Given the description of an element on the screen output the (x, y) to click on. 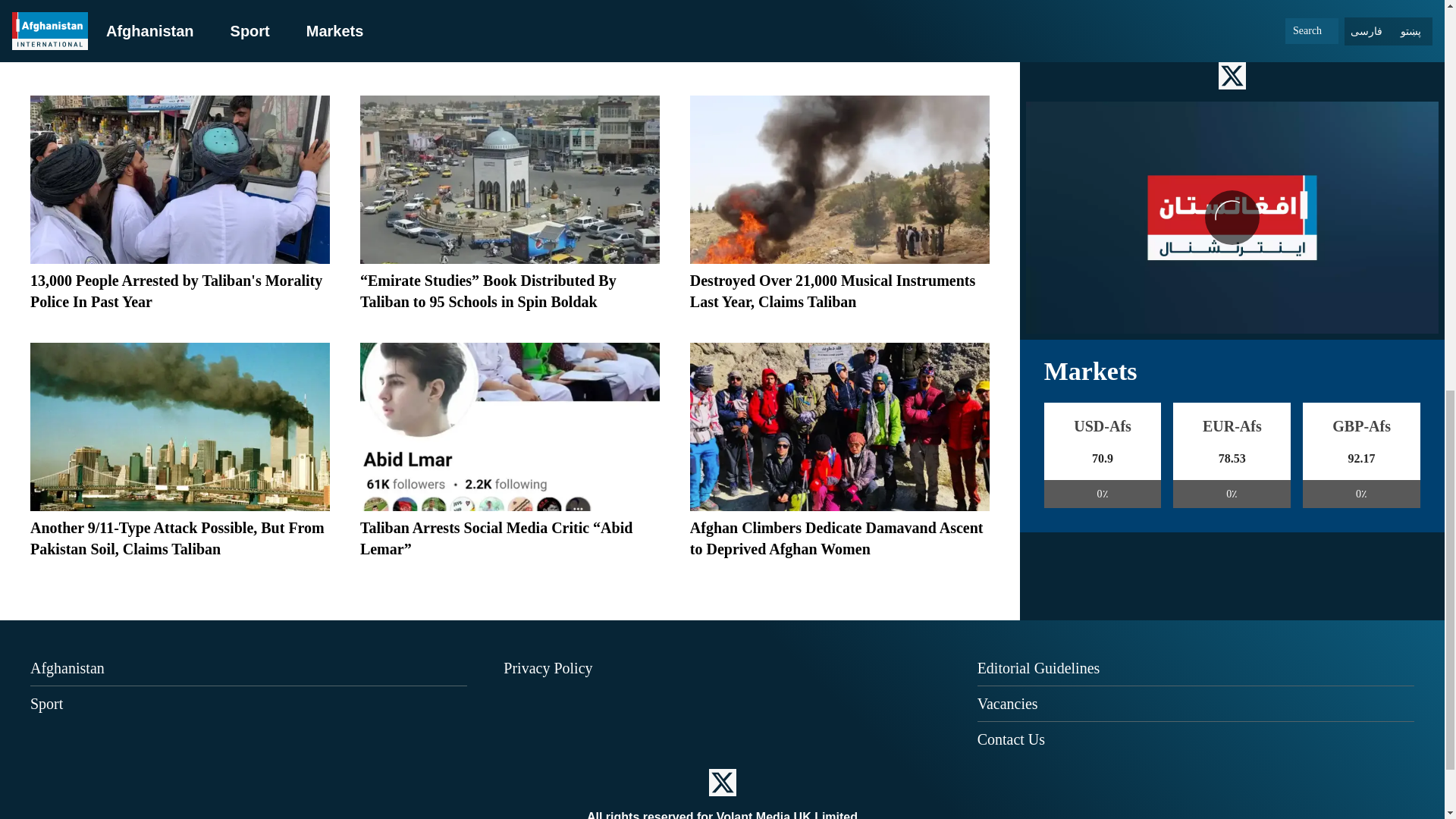
Contact Us (1010, 739)
Privacy Policy (547, 668)
Vacancies (1007, 703)
Afghanistan (67, 668)
Editorial Guidelines (1038, 668)
Sport (46, 703)
